Given the description of an element on the screen output the (x, y) to click on. 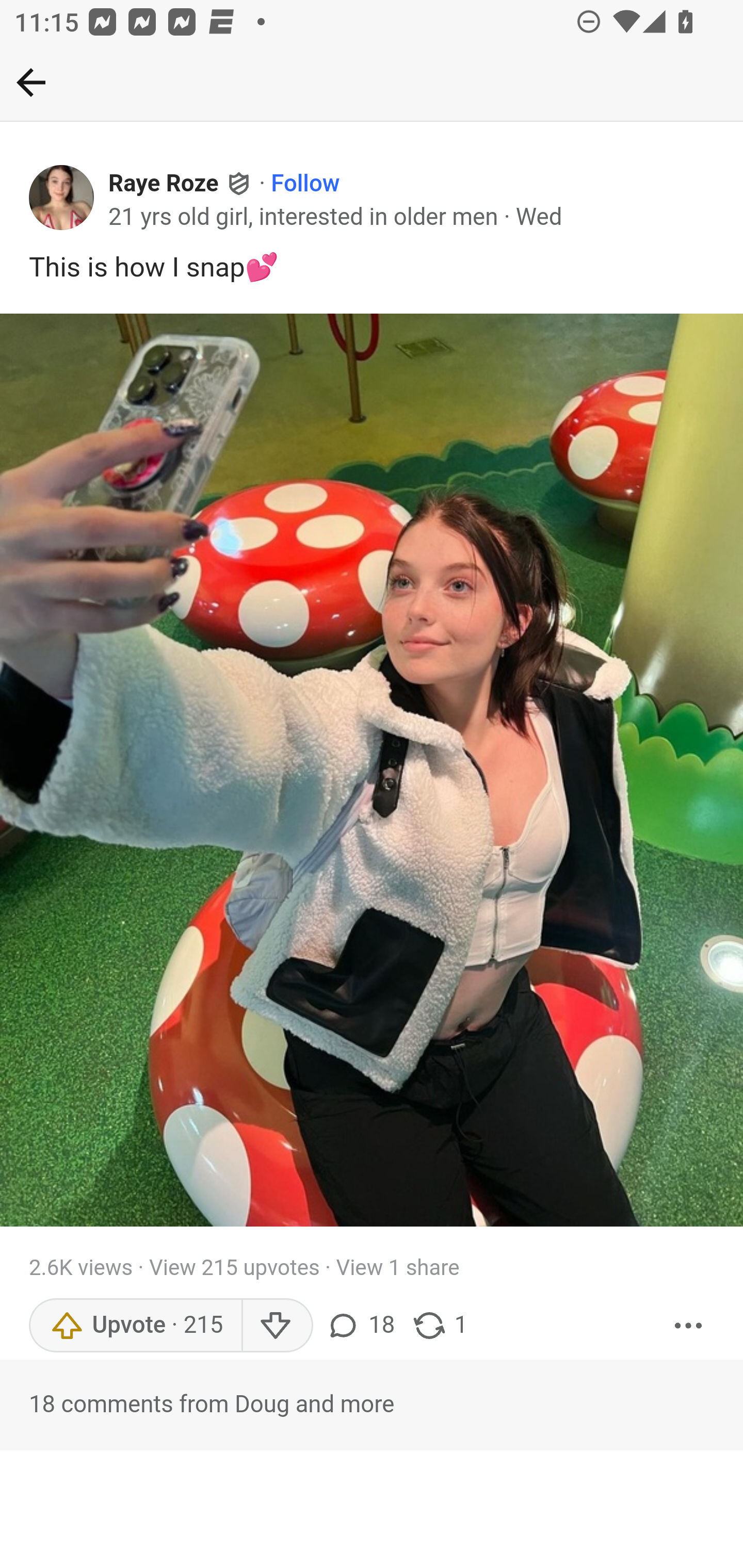
Back (30, 82)
Profile photo for Raye Roze (61, 198)
Raye Roze (164, 183)
Follow (306, 183)
Upvote (135, 1324)
Downvote (277, 1324)
18 comments (363, 1324)
1 share (439, 1324)
More (688, 1324)
18 comments from Doug and more (371, 1404)
